Given the description of an element on the screen output the (x, y) to click on. 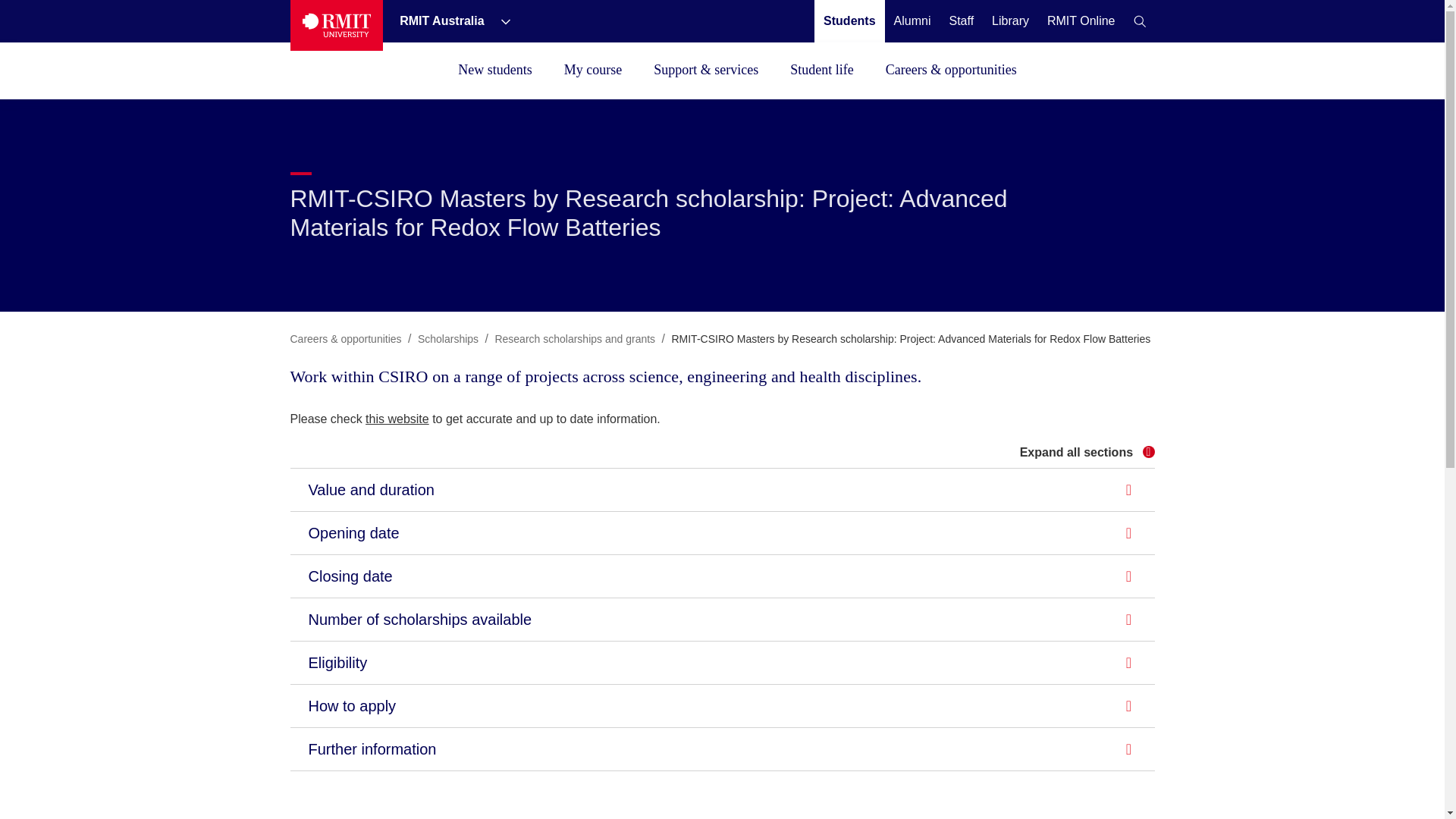
Alumni (912, 20)
Staff (961, 20)
Students (849, 20)
RMIT Online (1080, 20)
RMIT Australia (443, 20)
Library (1010, 20)
